Given the description of an element on the screen output the (x, y) to click on. 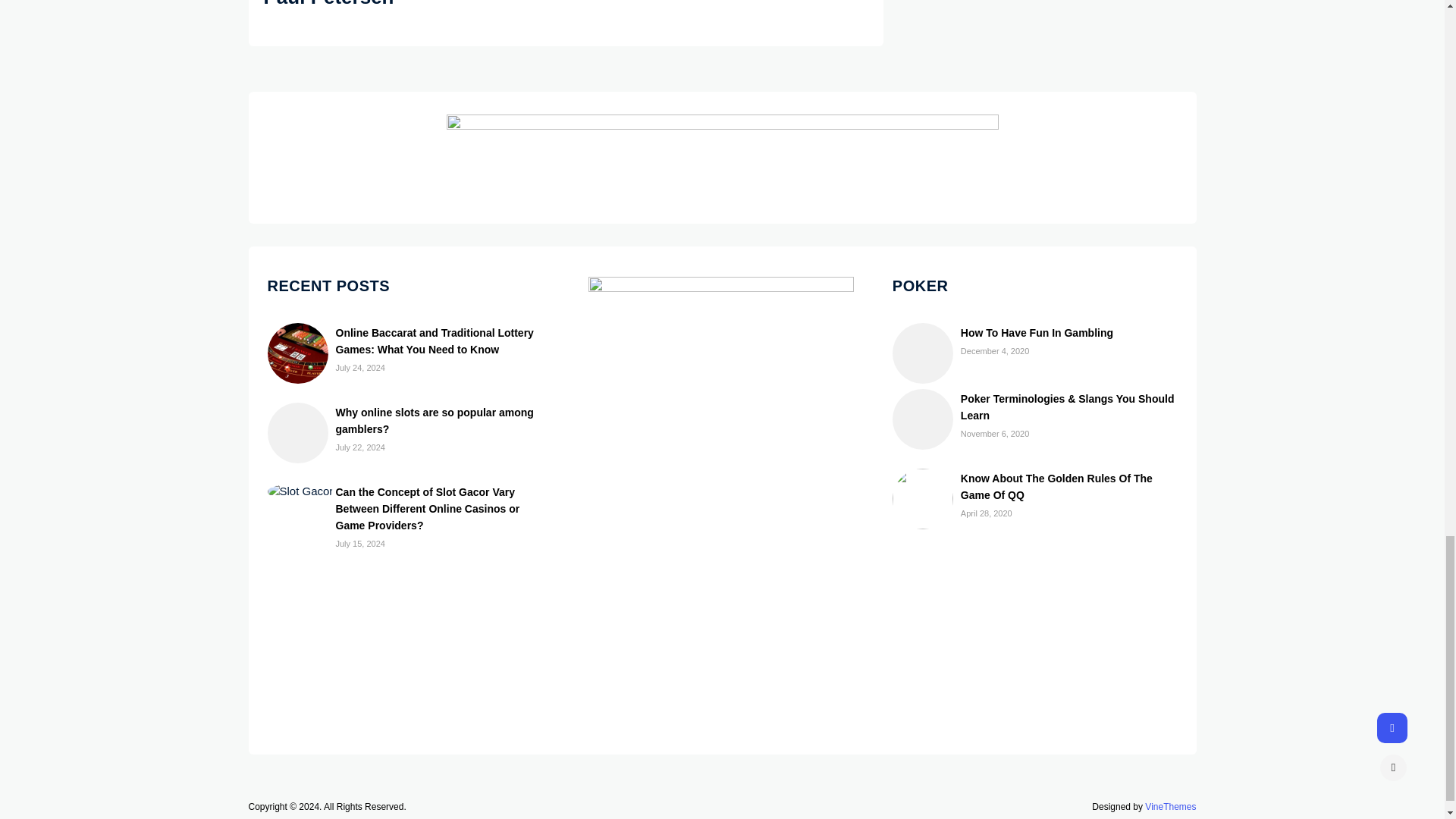
Paul Petersen (328, 4)
